Given the description of an element on the screen output the (x, y) to click on. 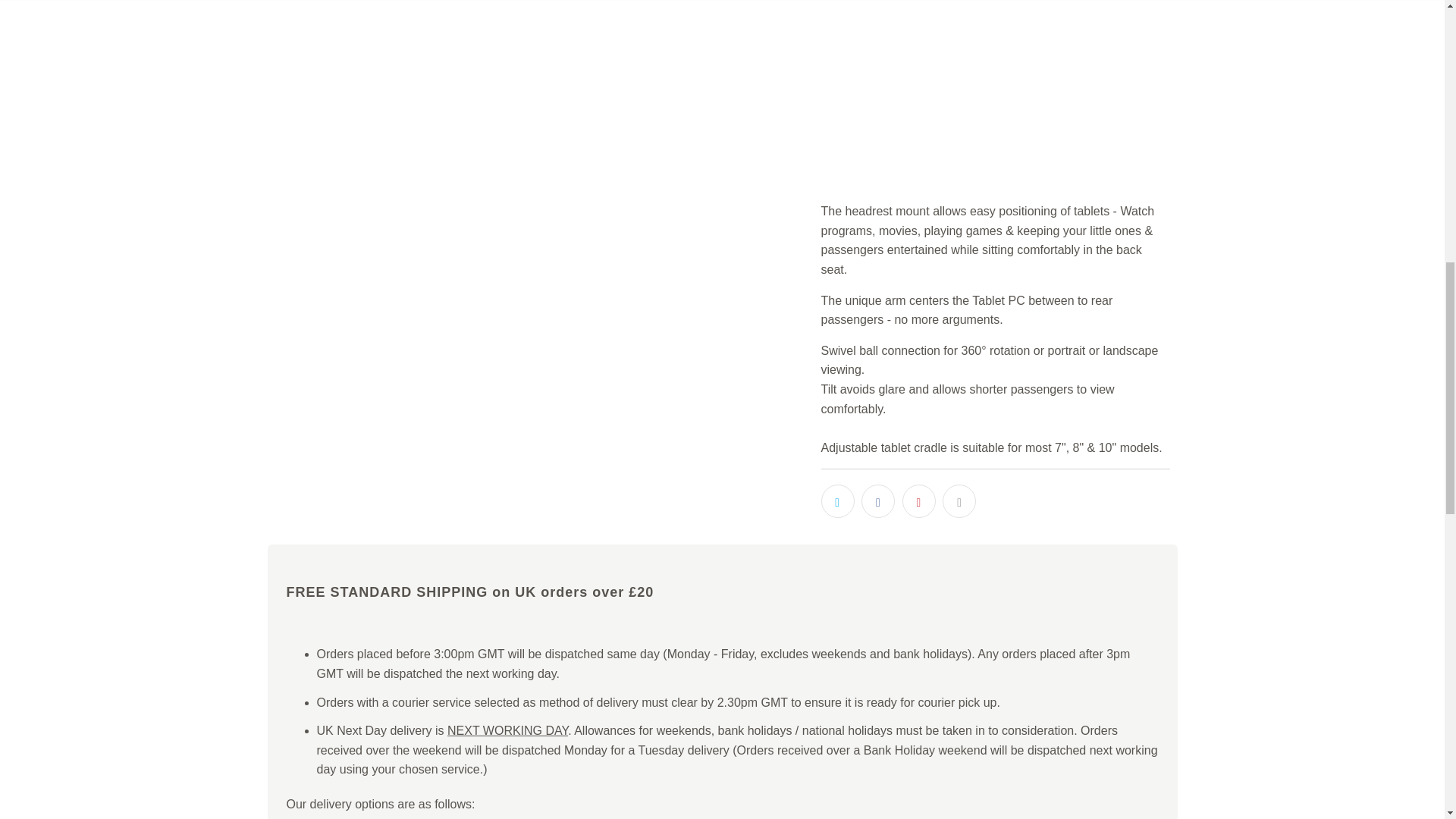
Share this on Twitter (837, 500)
Share this on Facebook (878, 500)
Share this on Pinterest (919, 500)
Email this to a friend (958, 500)
